Given the description of an element on the screen output the (x, y) to click on. 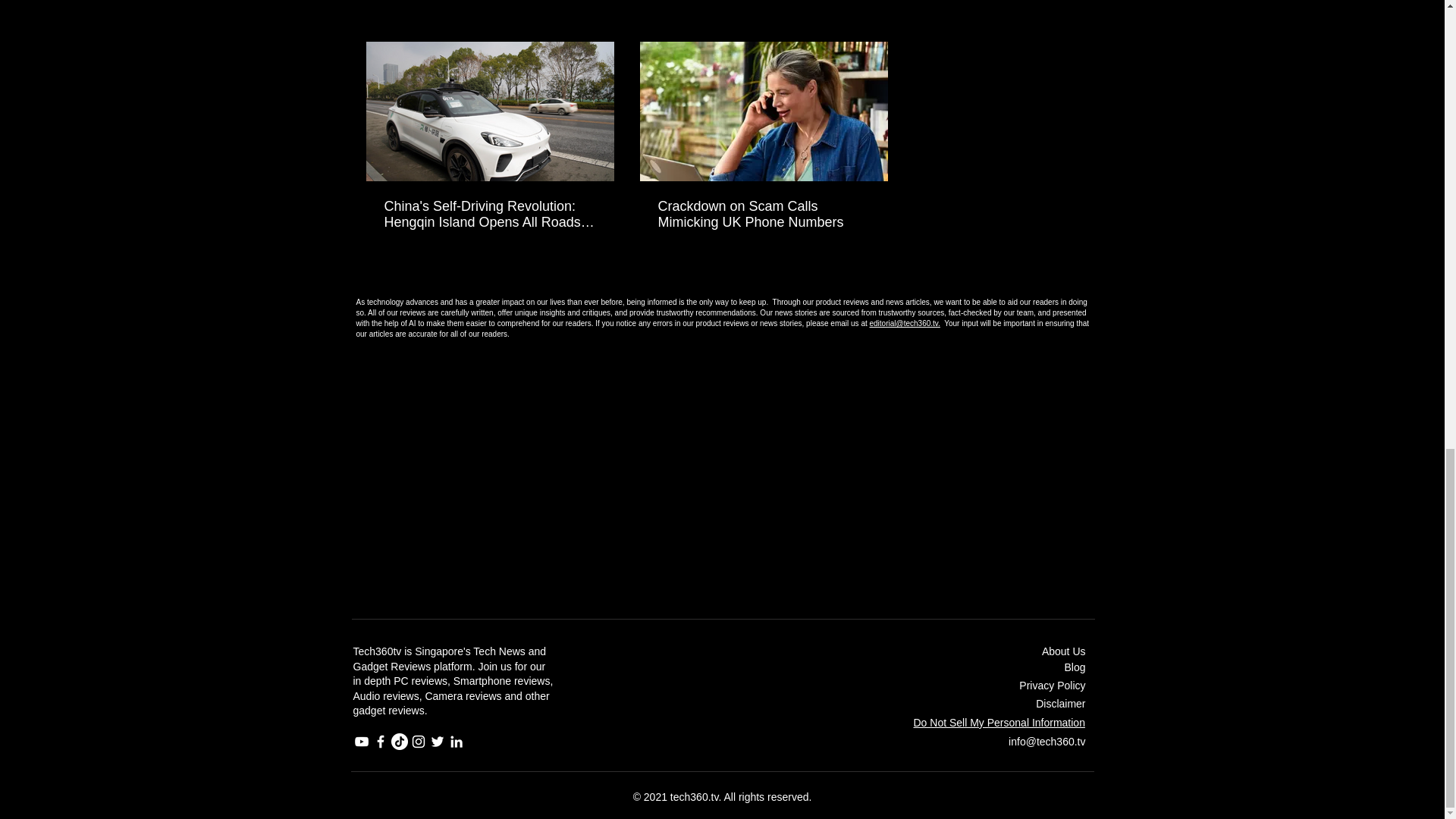
Disclaimer (1059, 703)
Do Not Sell My Personal Information (998, 723)
Blog (1074, 666)
About Us (1064, 651)
Privacy Policy (1051, 685)
Crackdown on Scam Calls Mimicking UK Phone Numbers (763, 214)
